Given the description of an element on the screen output the (x, y) to click on. 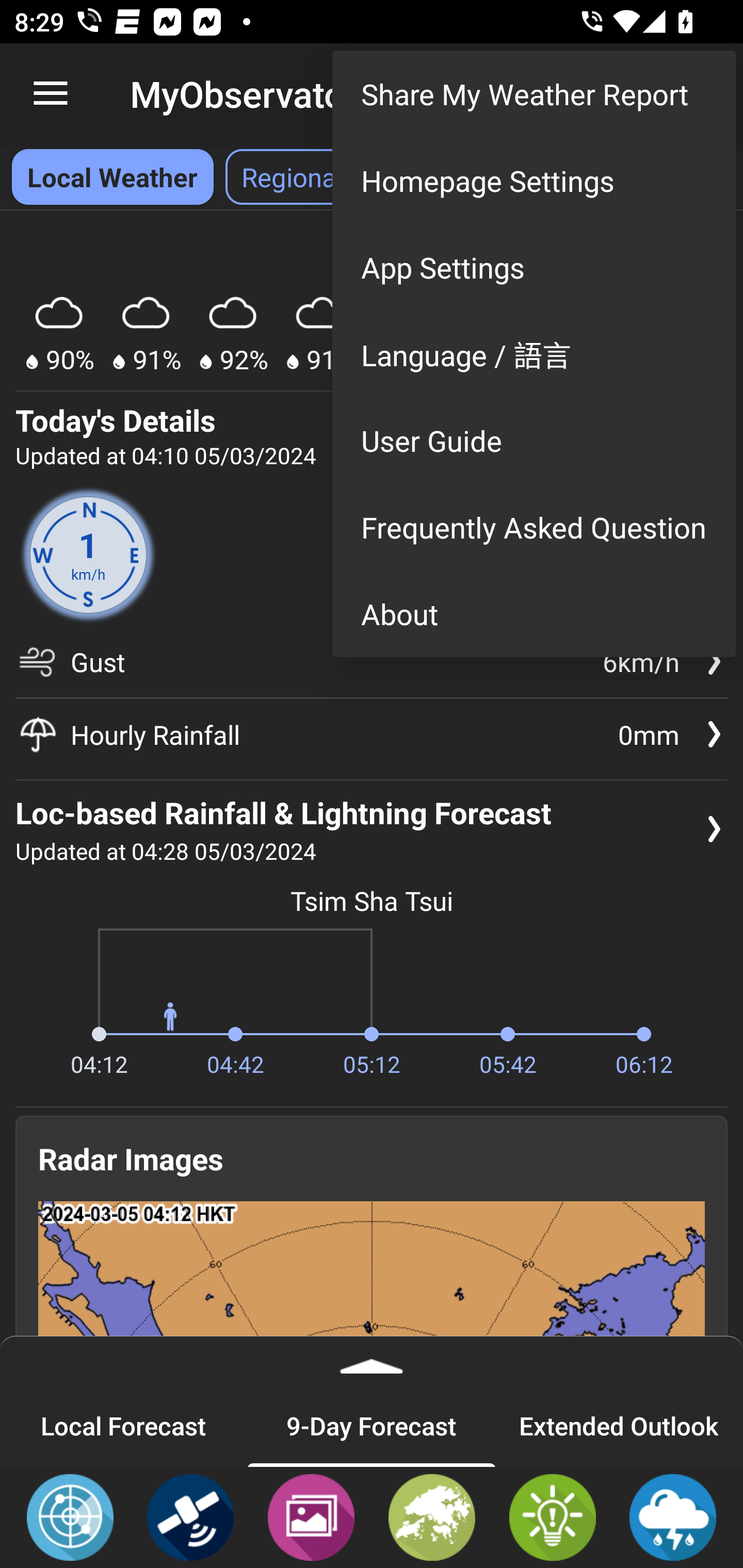
Share My Weather Report (533, 93)
Homepage Settings (533, 180)
App Settings (533, 267)
Language / 語言 (533, 353)
User Guide (533, 440)
Frequently Asked Question (533, 527)
About (533, 613)
